Given the description of an element on the screen output the (x, y) to click on. 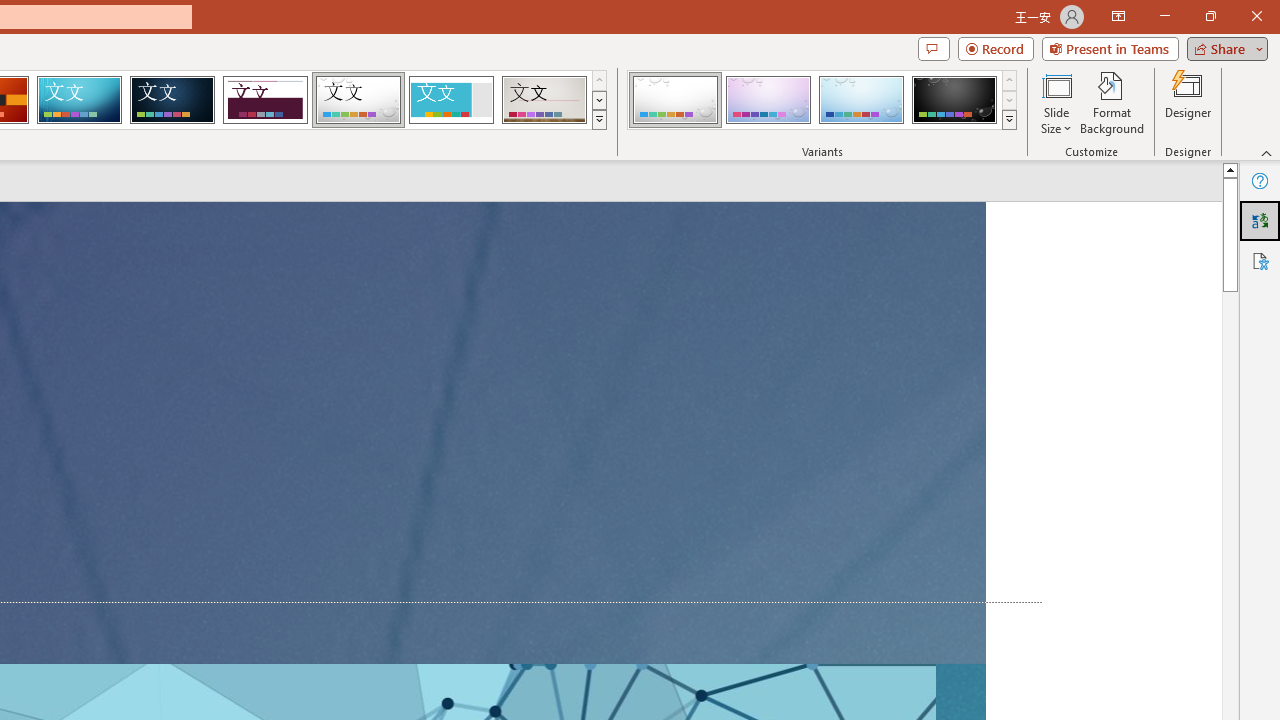
AutomationID: ThemeVariantsGallery (822, 99)
Damask (171, 100)
Format Background (1111, 102)
Droplet Variant 2 (768, 100)
Frame (450, 100)
Dividend (265, 100)
Circuit (79, 100)
Variants (1009, 120)
Droplet Variant 3 (861, 100)
